Given the description of an element on the screen output the (x, y) to click on. 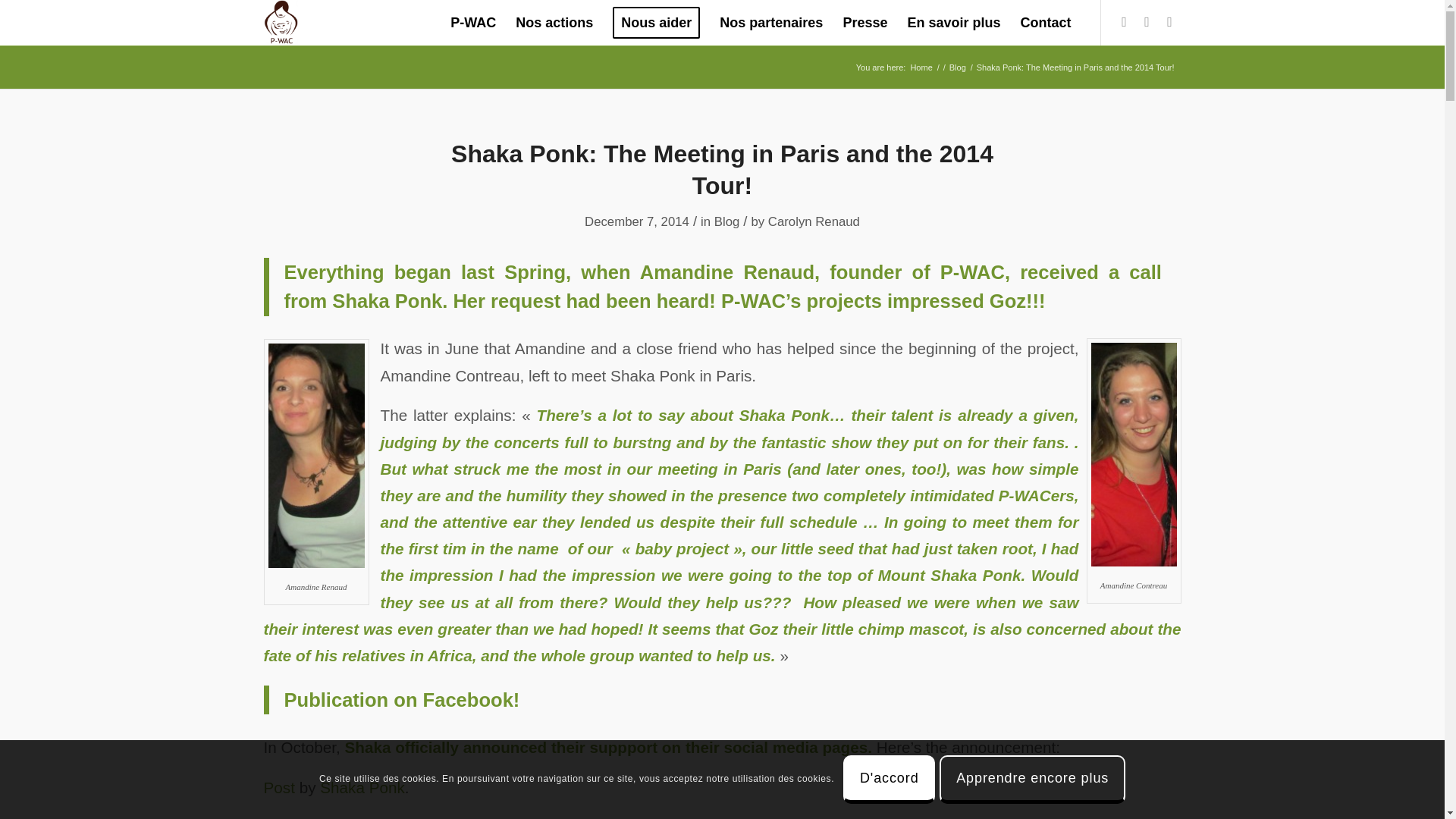
Contact (1045, 22)
En savoir plus (953, 22)
Home (920, 67)
P-WAC (473, 22)
Instagram (1169, 21)
Nous aider (656, 22)
Nos partenaires (771, 22)
Presse (864, 22)
Nos actions (553, 22)
Blog (957, 67)
